Given the description of an element on the screen output the (x, y) to click on. 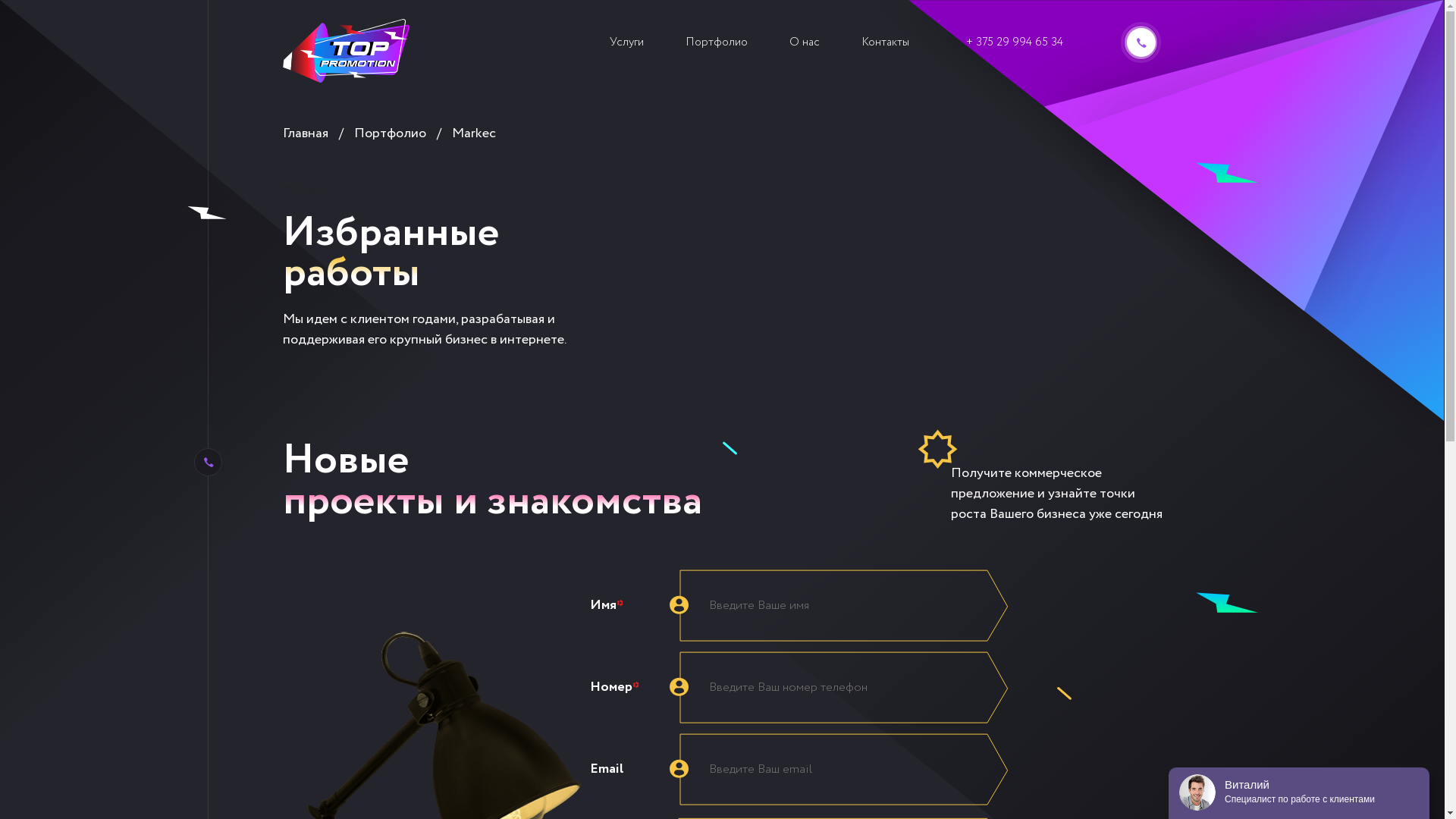
+ 375 29 994 65 34 Element type: text (1014, 42)
